Given the description of an element on the screen output the (x, y) to click on. 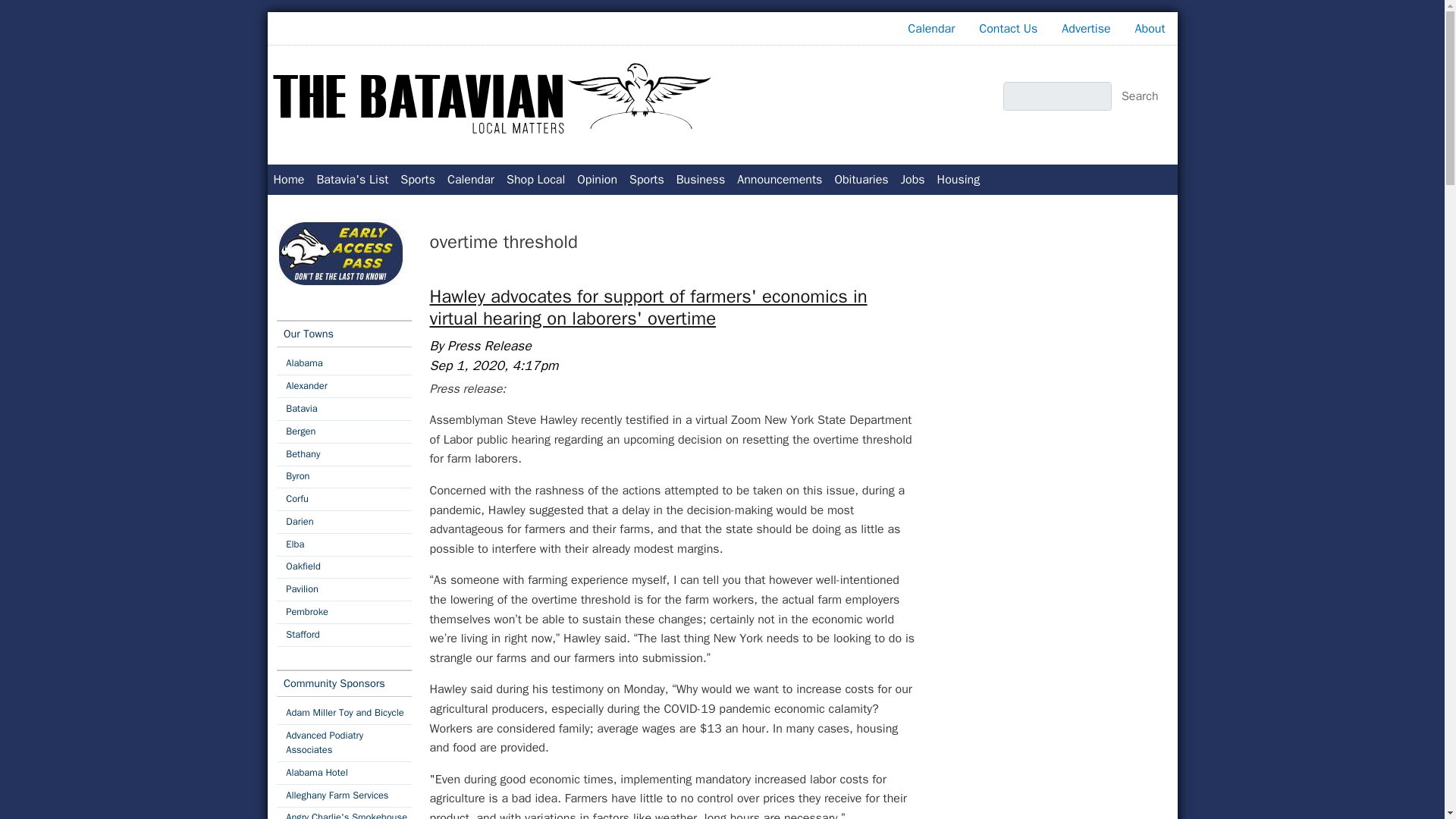
Pembroke (343, 612)
Page about advertising on the site. (1085, 28)
Home (288, 179)
Stafford (343, 635)
Contact Us (1007, 28)
Advertise (1085, 28)
Pavilion (343, 589)
About (1149, 28)
Sports (417, 179)
Jobs (913, 179)
Batavia's List (352, 179)
Alabama Hotel (343, 772)
Oakfield (343, 567)
Bethany (343, 454)
Opinion (596, 179)
